Given the description of an element on the screen output the (x, y) to click on. 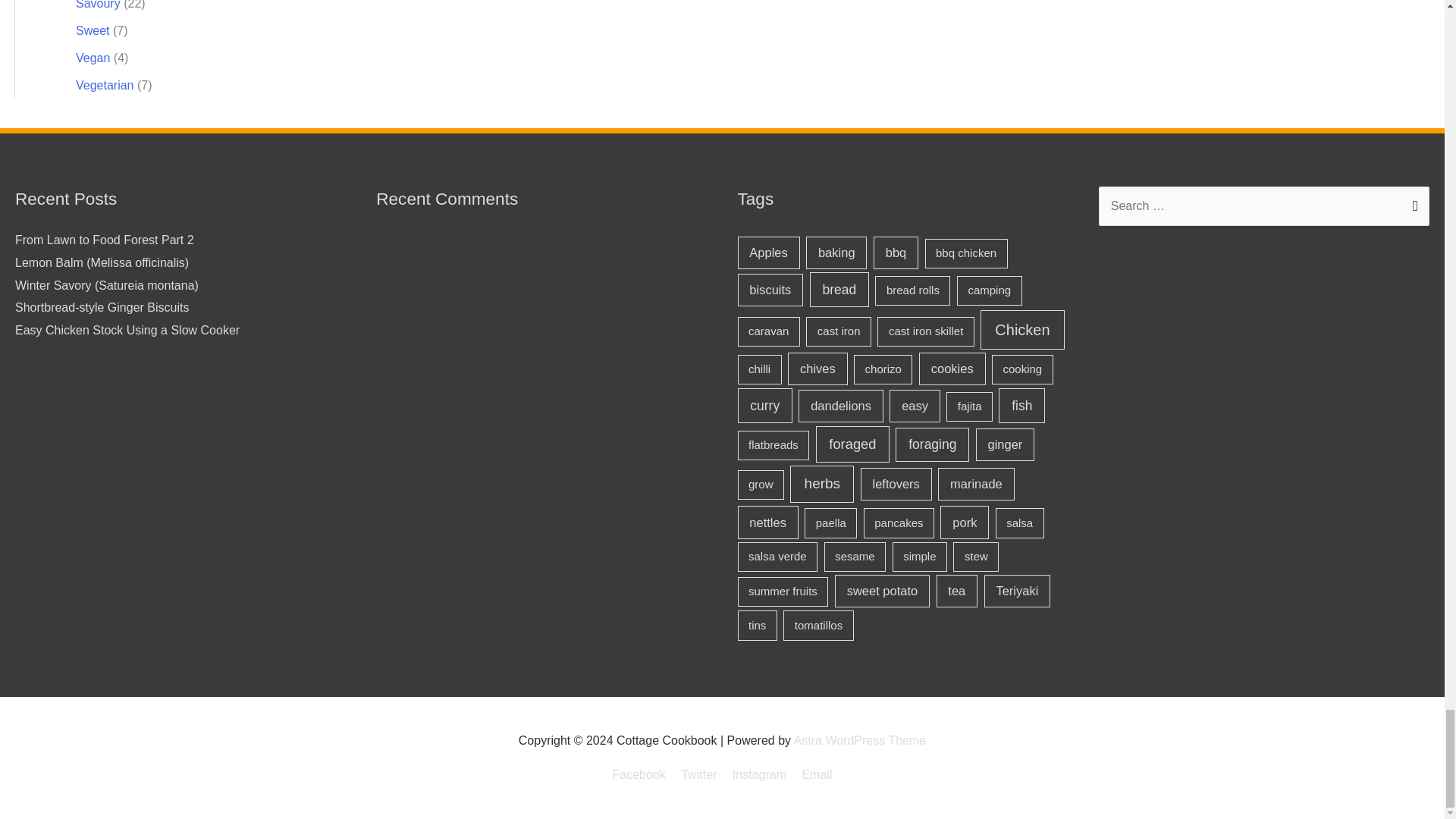
Cottage Cookbook Instagram (759, 774)
